Given the description of an element on the screen output the (x, y) to click on. 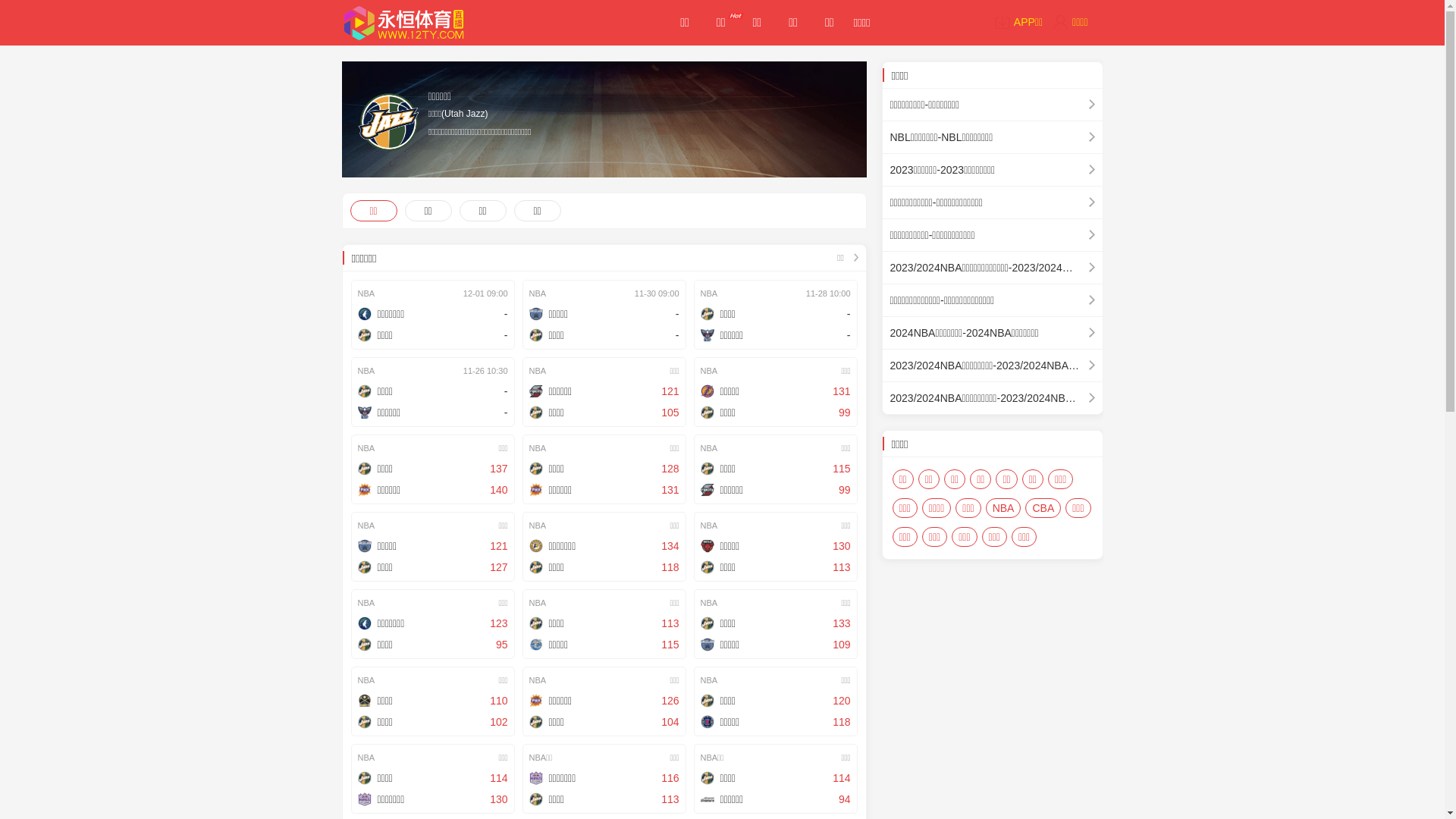
NBA Element type: text (1003, 507)
CBA Element type: text (1042, 507)
